Given the description of an element on the screen output the (x, y) to click on. 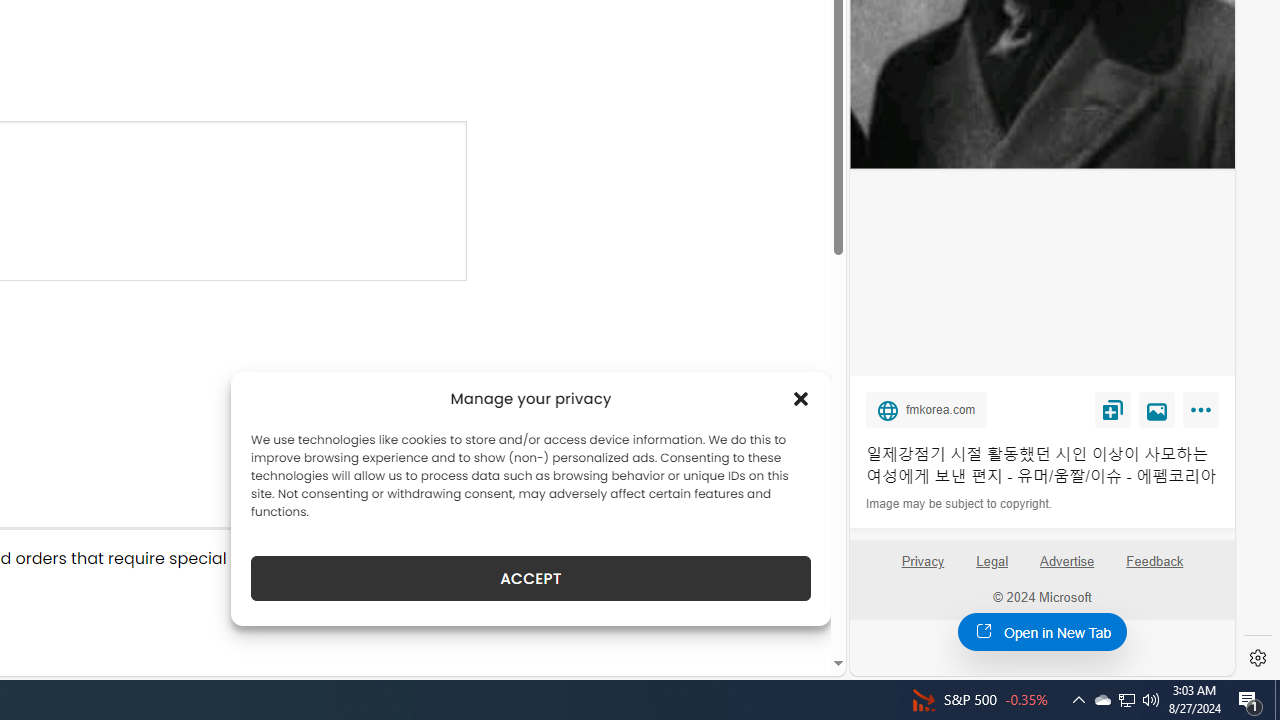
Open in New Tab (1042, 631)
Save (1112, 409)
Image may be subject to copyright. (959, 503)
Class: cmplz-close (801, 398)
